Given the description of an element on the screen output the (x, y) to click on. 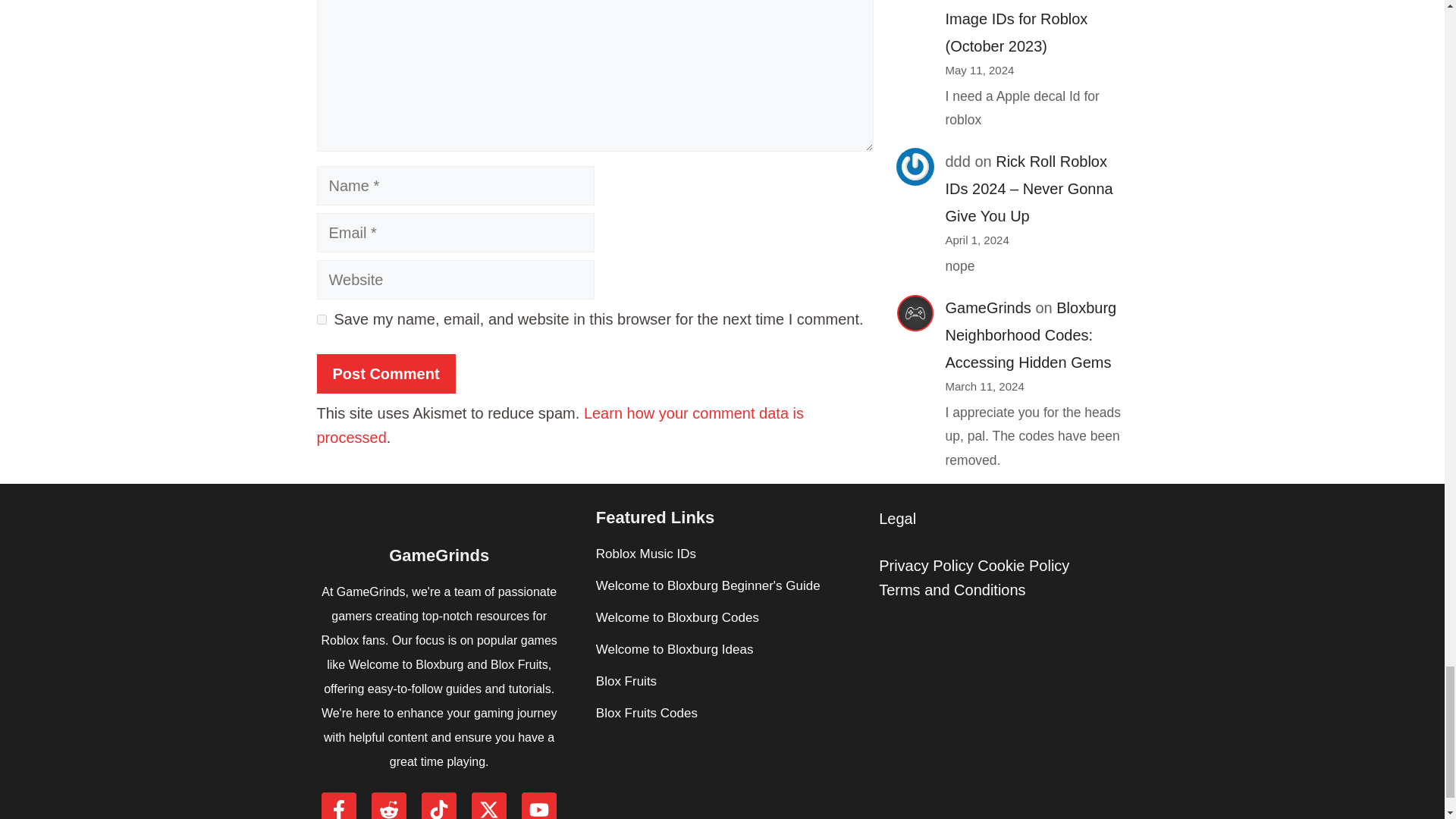
yes (321, 319)
Post Comment (386, 373)
